Given the description of an element on the screen output the (x, y) to click on. 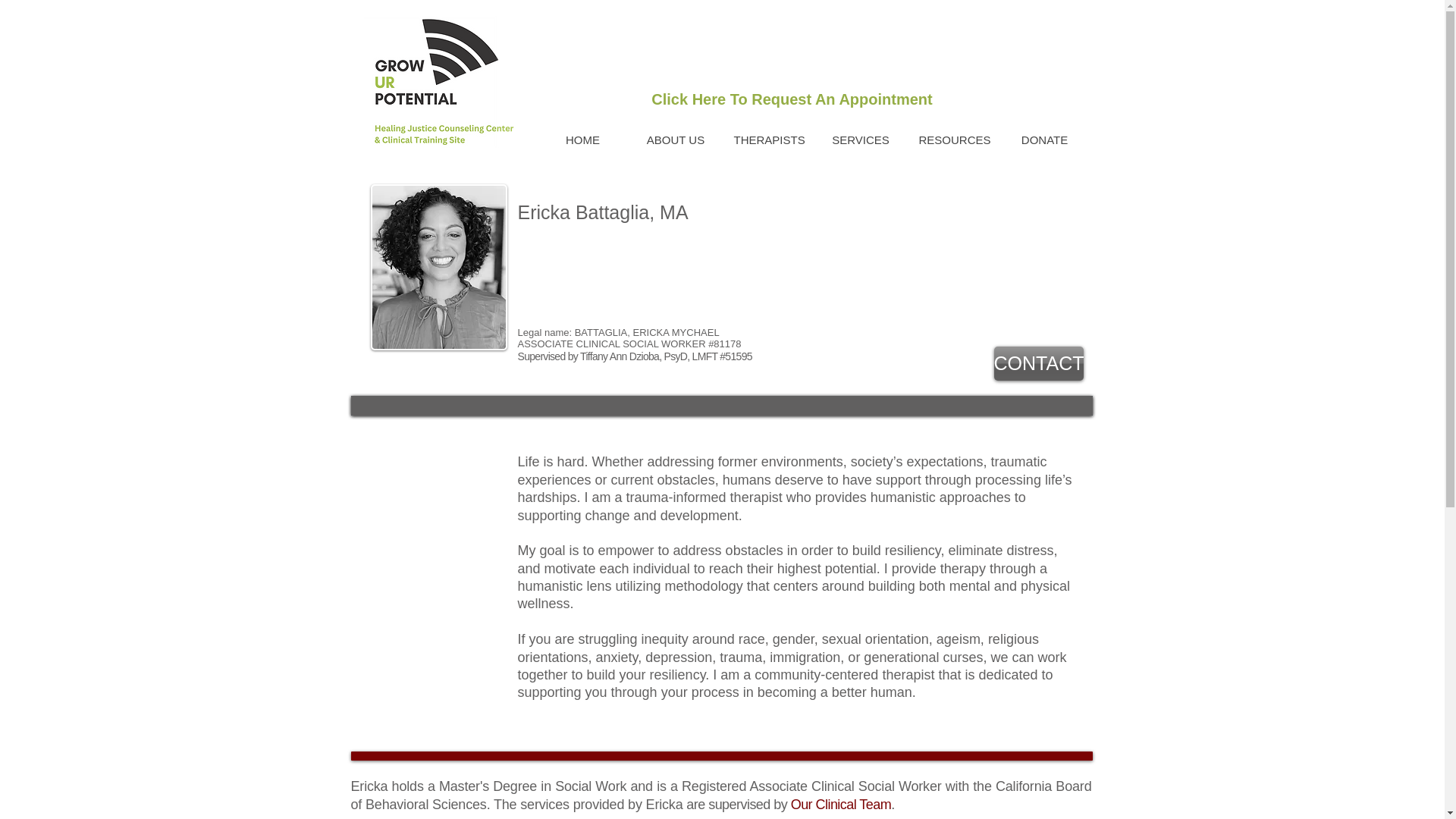
Our Clinical Team (840, 804)
DONATE (1043, 140)
CONTACT (1037, 363)
Click Here To Request An Appointment (790, 98)
HOME (582, 140)
